Given the description of an element on the screen output the (x, y) to click on. 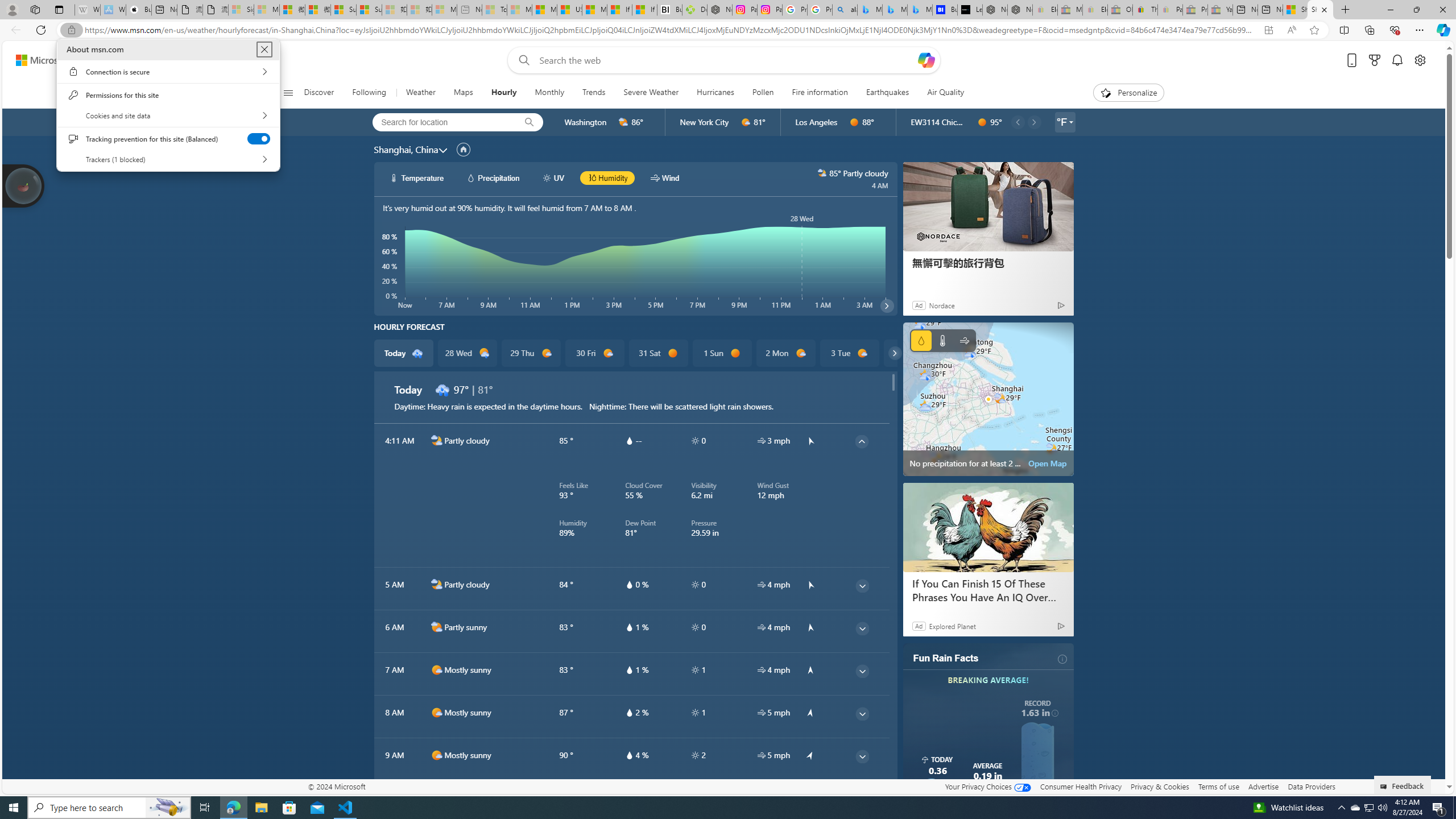
About msn.com (264, 49)
d2100 (484, 353)
1 Sun d0000 (721, 352)
Microsoft Store (289, 807)
Fun Rain Facts (945, 658)
3 Tue d1000 (849, 352)
Monthly (549, 92)
29 Thu d1000 (530, 352)
